Given the description of an element on the screen output the (x, y) to click on. 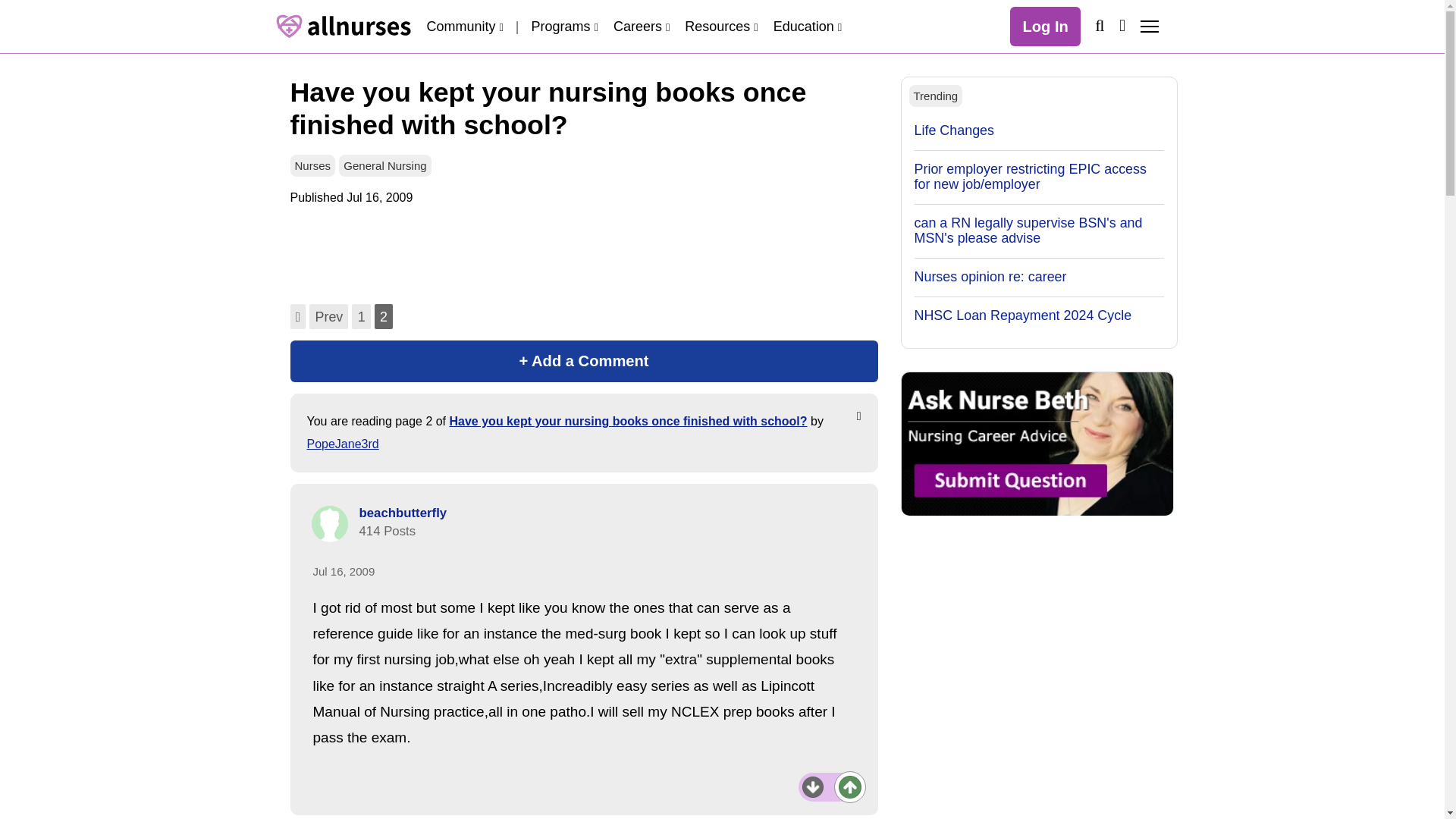
Up-to-date information on nursing programs in the U.S. (564, 26)
Down Vote (813, 786)
Programs (564, 26)
Go to beachbutterfly's profile (329, 524)
Previous page (327, 316)
Go to beachbutterfly's profile (402, 513)
Community (465, 26)
